Given the description of an element on the screen output the (x, y) to click on. 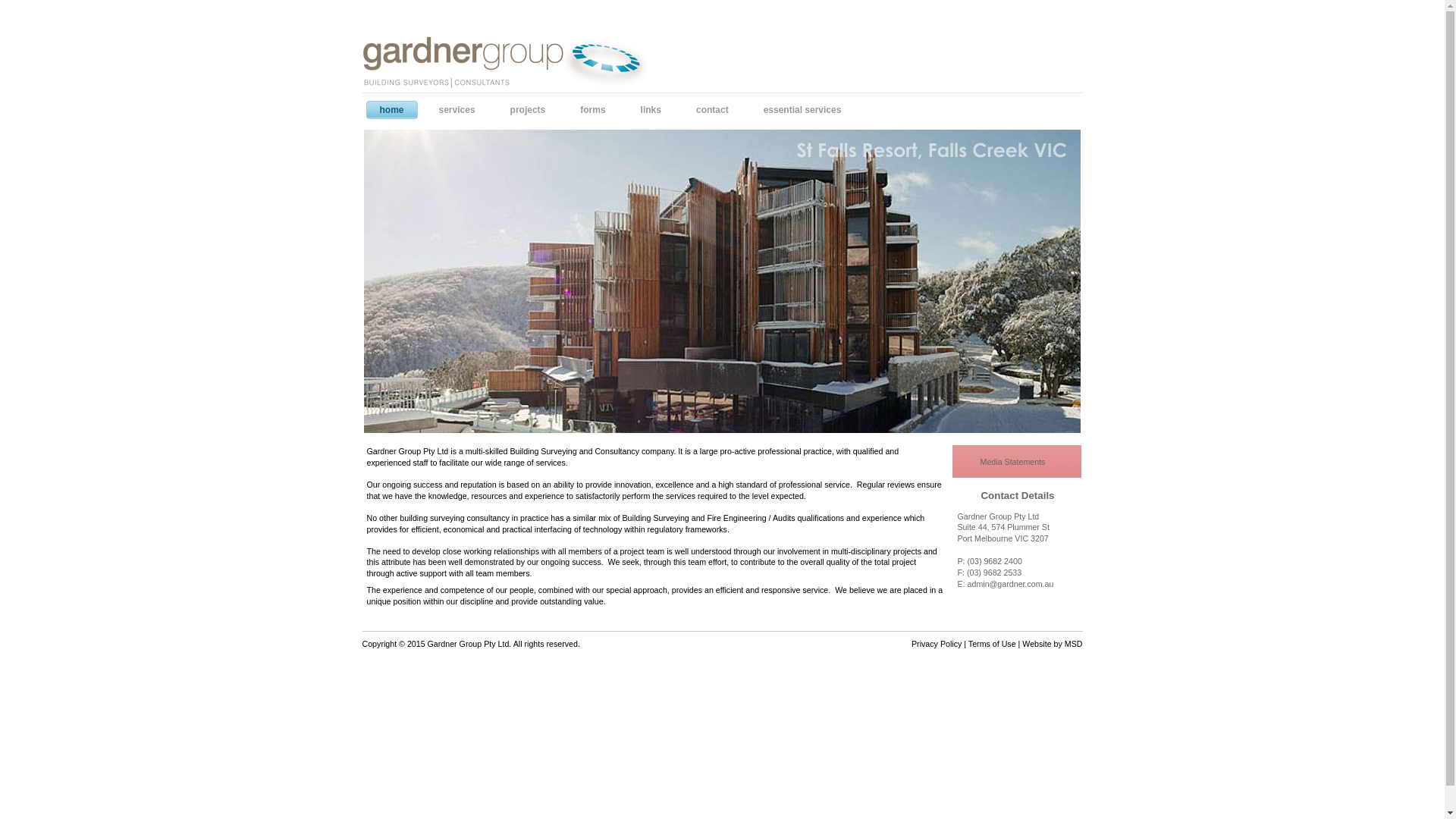
projects Element type: text (531, 111)
Media Statements Element type: text (1016, 462)
Website by MSD Element type: text (1052, 643)
links Element type: text (654, 111)
admin@gardner.com.au Element type: text (1014, 584)
forms Element type: text (596, 111)
contact Element type: text (716, 111)
Terms of Use Element type: text (992, 643)
services Element type: text (461, 111)
essential services Element type: text (806, 111)
Privacy Policy Element type: text (936, 643)
home Element type: text (395, 111)
